Given the description of an element on the screen output the (x, y) to click on. 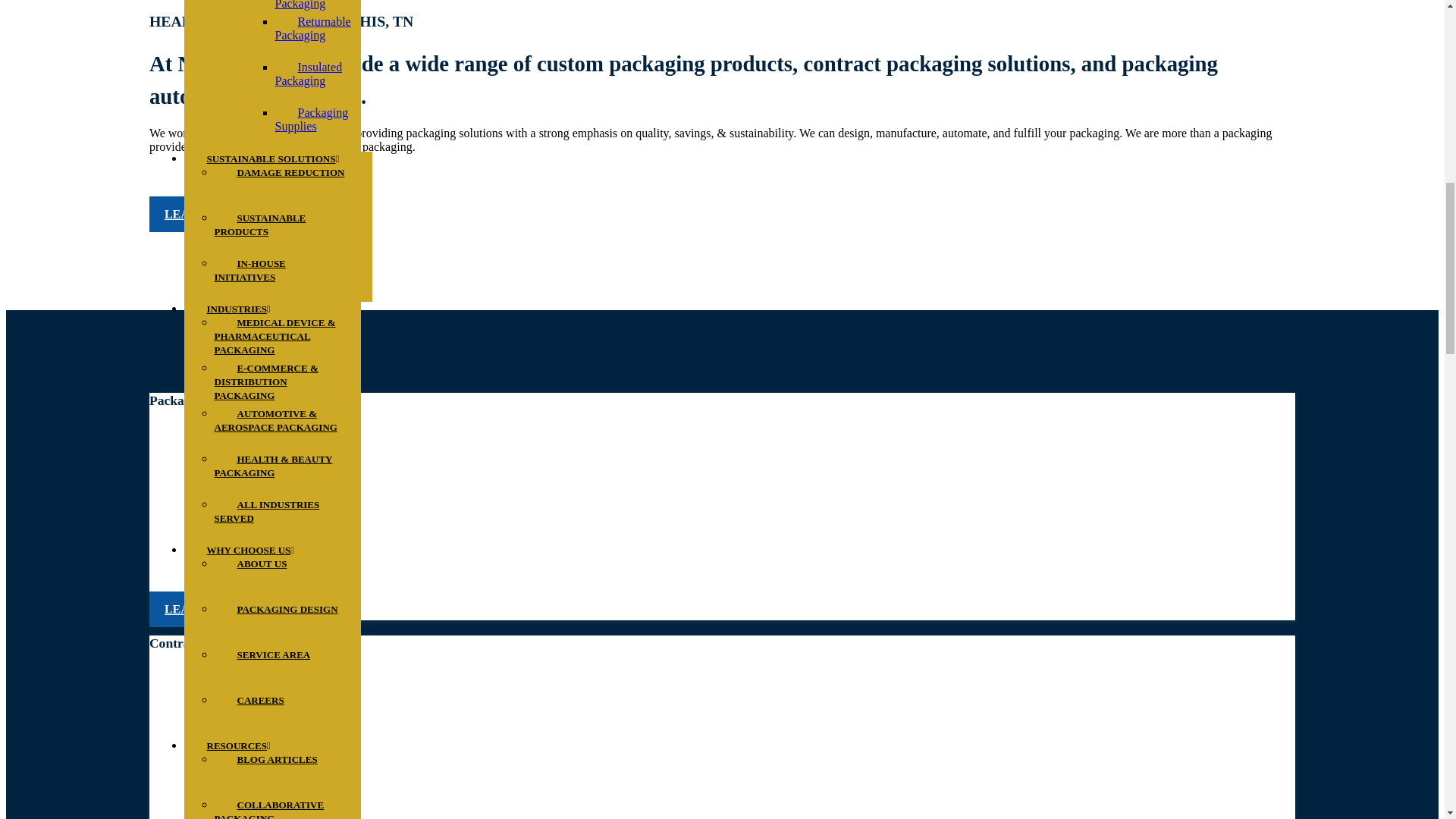
SUSTAINABLE PRODUCTS (259, 224)
IN-HOUSE INITIATIVES (256, 270)
SUSTAINABLE SOLUTIONS (272, 158)
Packaging Supplies (311, 119)
DAMAGE REDUCTION (290, 172)
ALL INDUSTRIES SERVED (266, 511)
Insulated Packaging (311, 73)
Plastic Corrugated Packaging (311, 12)
Returnable Packaging (312, 28)
INDUSTRIES (237, 309)
